Given the description of an element on the screen output the (x, y) to click on. 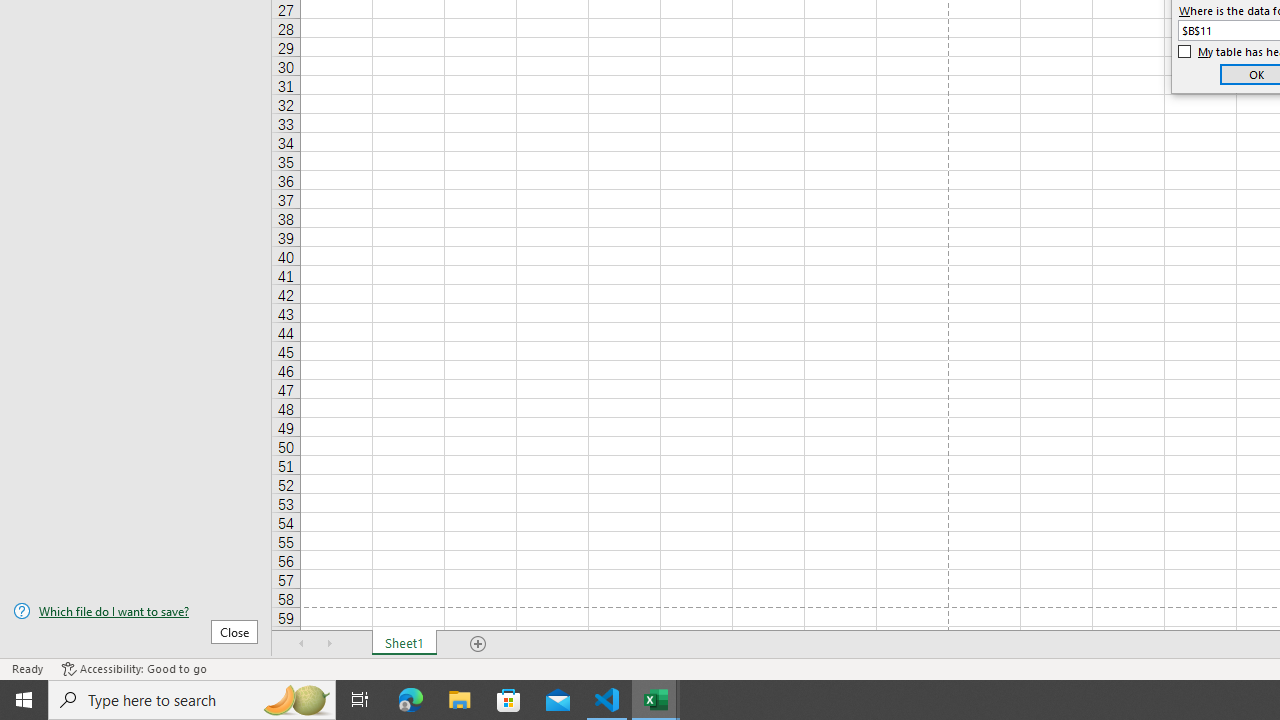
Accessibility Checker Accessibility: Good to go (134, 668)
Sheet1 (404, 644)
Add Sheet (478, 644)
Scroll Right (330, 644)
Scroll Left (302, 644)
Which file do I want to save? (136, 611)
